Given the description of an element on the screen output the (x, y) to click on. 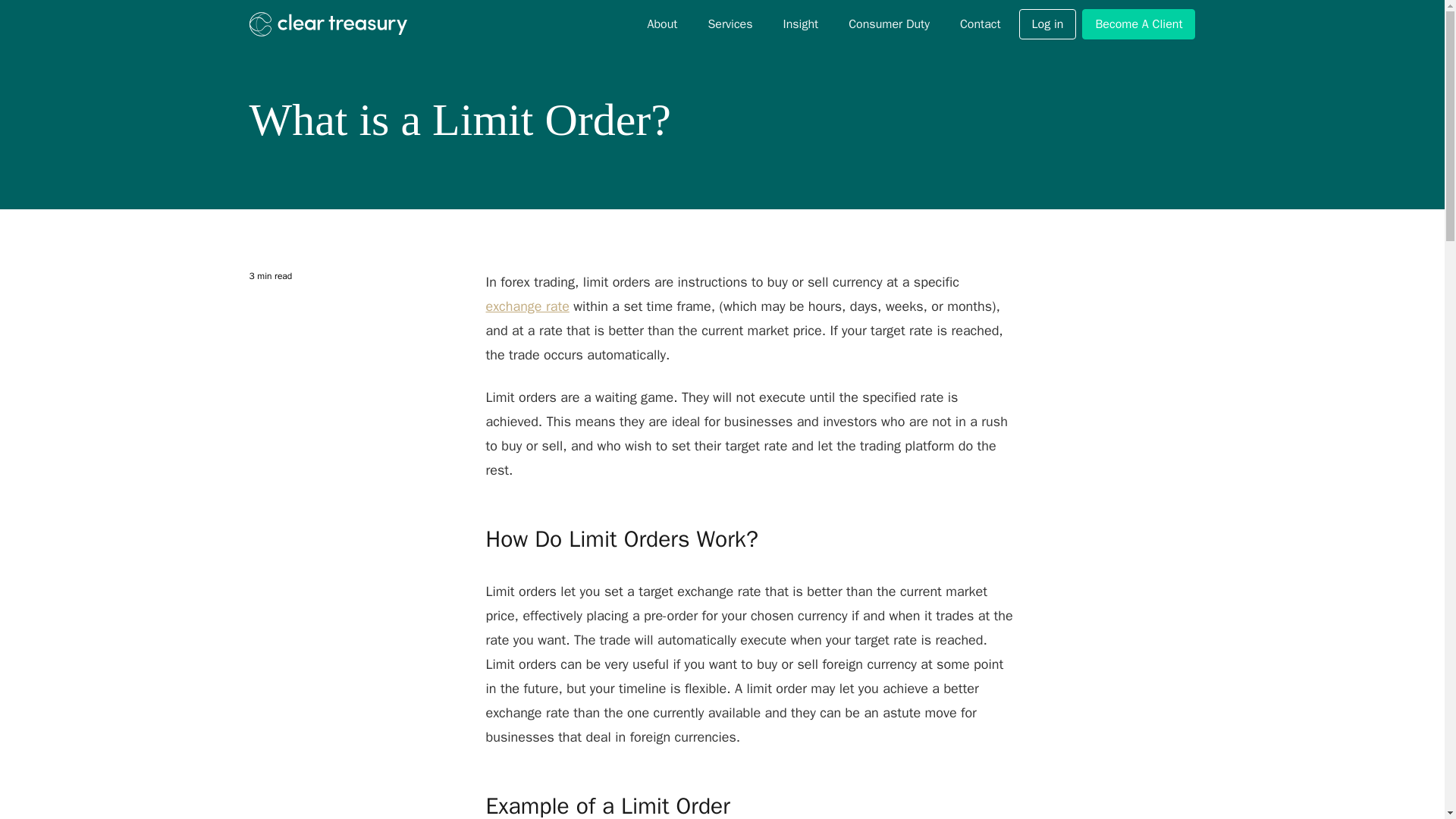
Consumer Duty (888, 24)
Insight (801, 24)
Contact (980, 24)
exchange rate (526, 306)
Log in (1048, 24)
About (661, 24)
Become A Client (1138, 24)
